Given the description of an element on the screen output the (x, y) to click on. 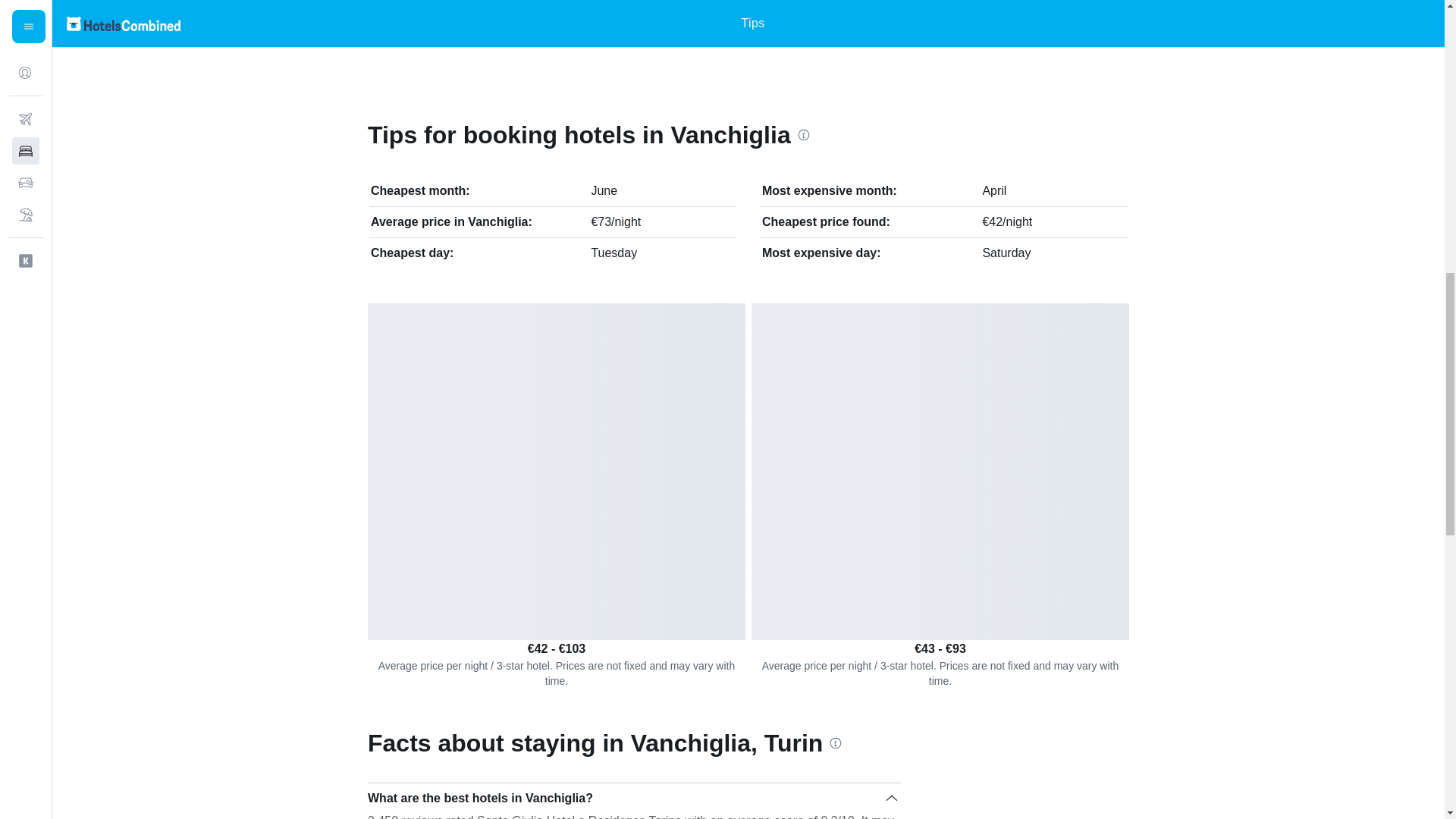
Turin Hotels (641, 22)
Saturday (1005, 252)
June (604, 190)
Tuesday (614, 252)
Italy Hotels (426, 22)
Home (373, 22)
April (993, 190)
Piedmont Hotels (535, 22)
